Given the description of an element on the screen output the (x, y) to click on. 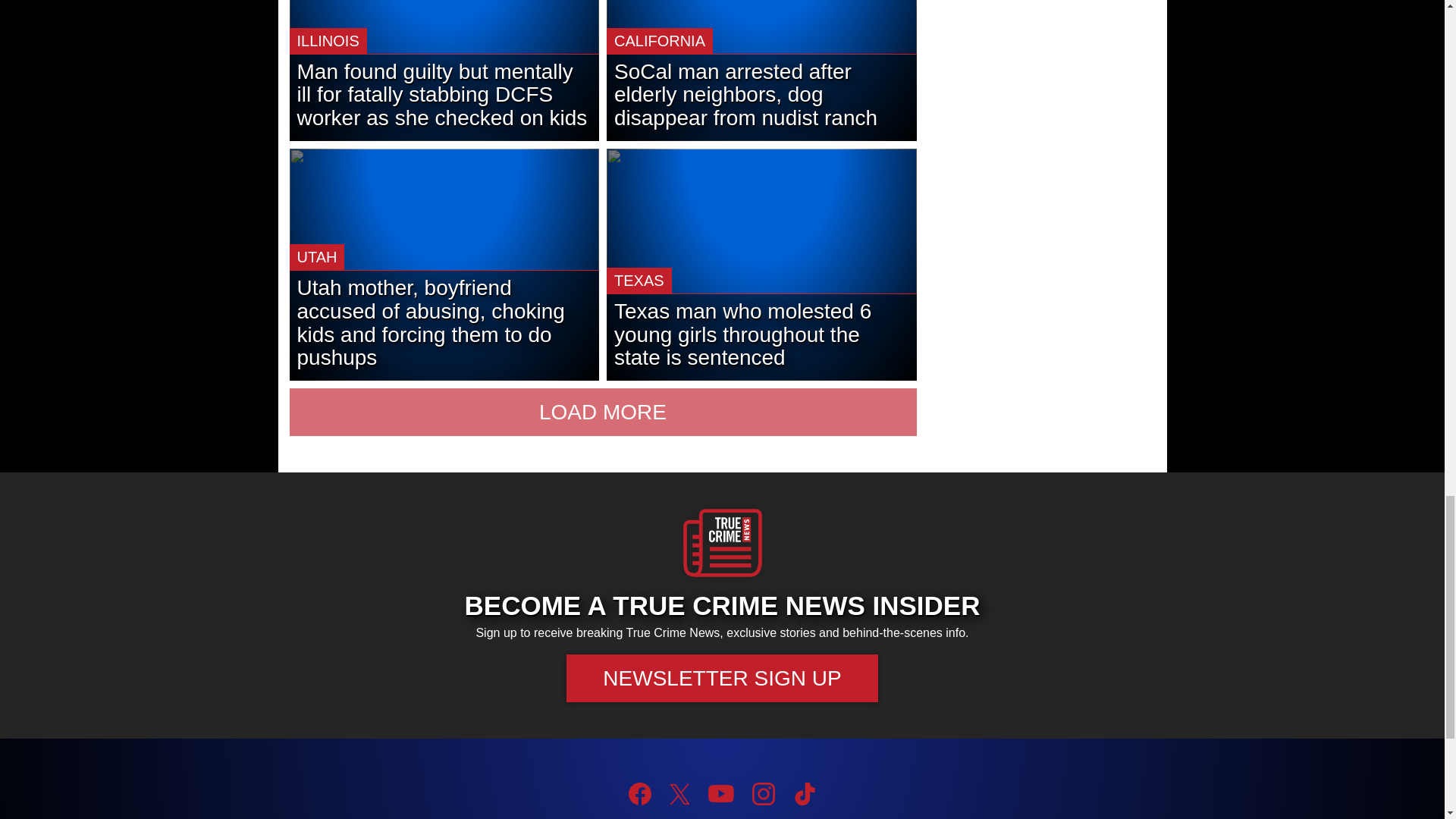
YouTube (720, 793)
Twitter (679, 793)
Facebook (639, 793)
TikTok (804, 793)
Instagram (763, 793)
